Given the description of an element on the screen output the (x, y) to click on. 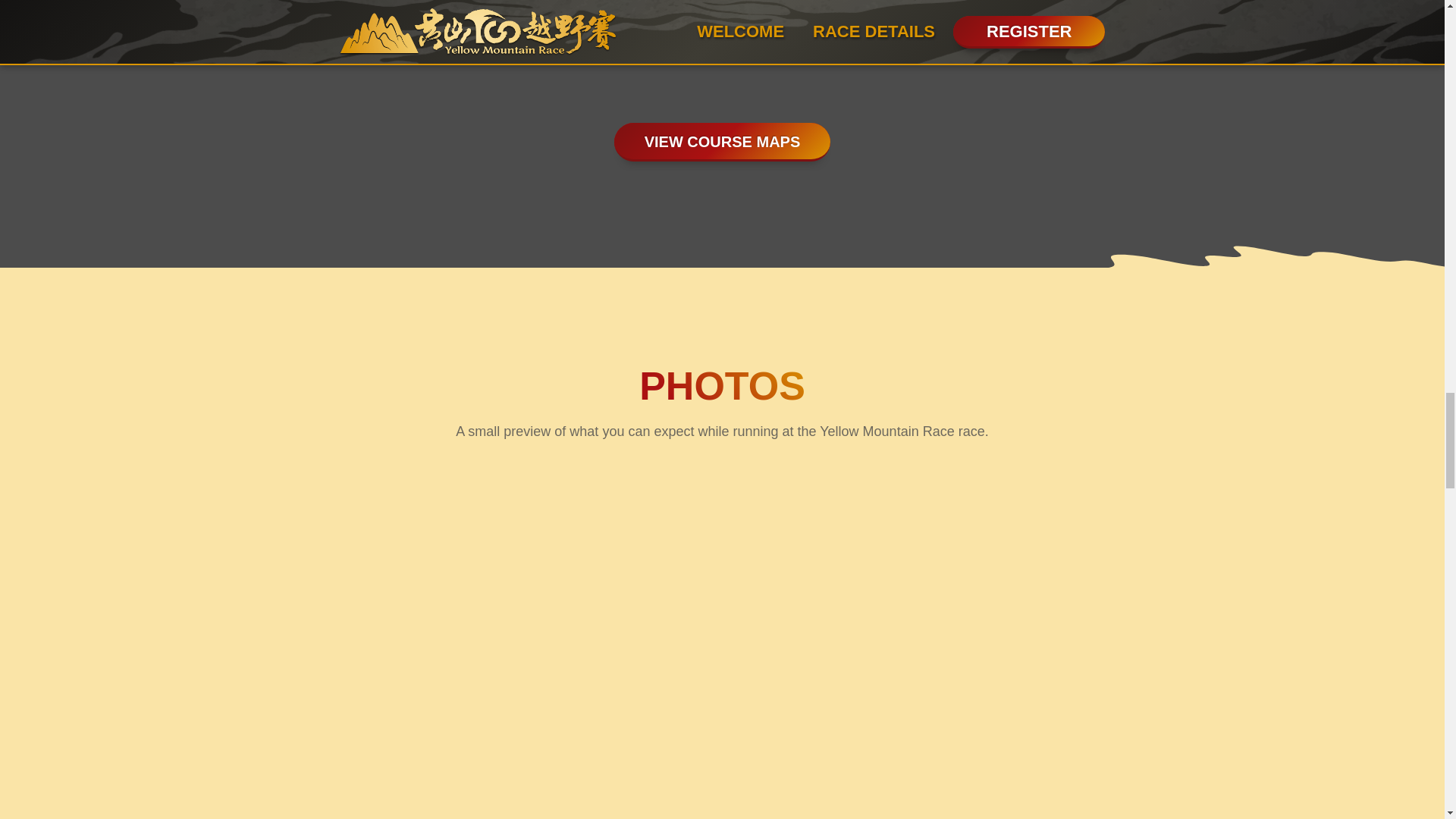
taipinglake100-tour-07 (547, 583)
82K Course Map (825, 41)
VIEW COURSE MAPS (722, 141)
22K Course Map (408, 38)
Yellow Mountain Race (197, 590)
Yellow Mountain Race (547, 761)
120K Course Map (1035, 46)
65K Course Map (618, 38)
Yellow Mountain Race (197, 768)
